Given the description of an element on the screen output the (x, y) to click on. 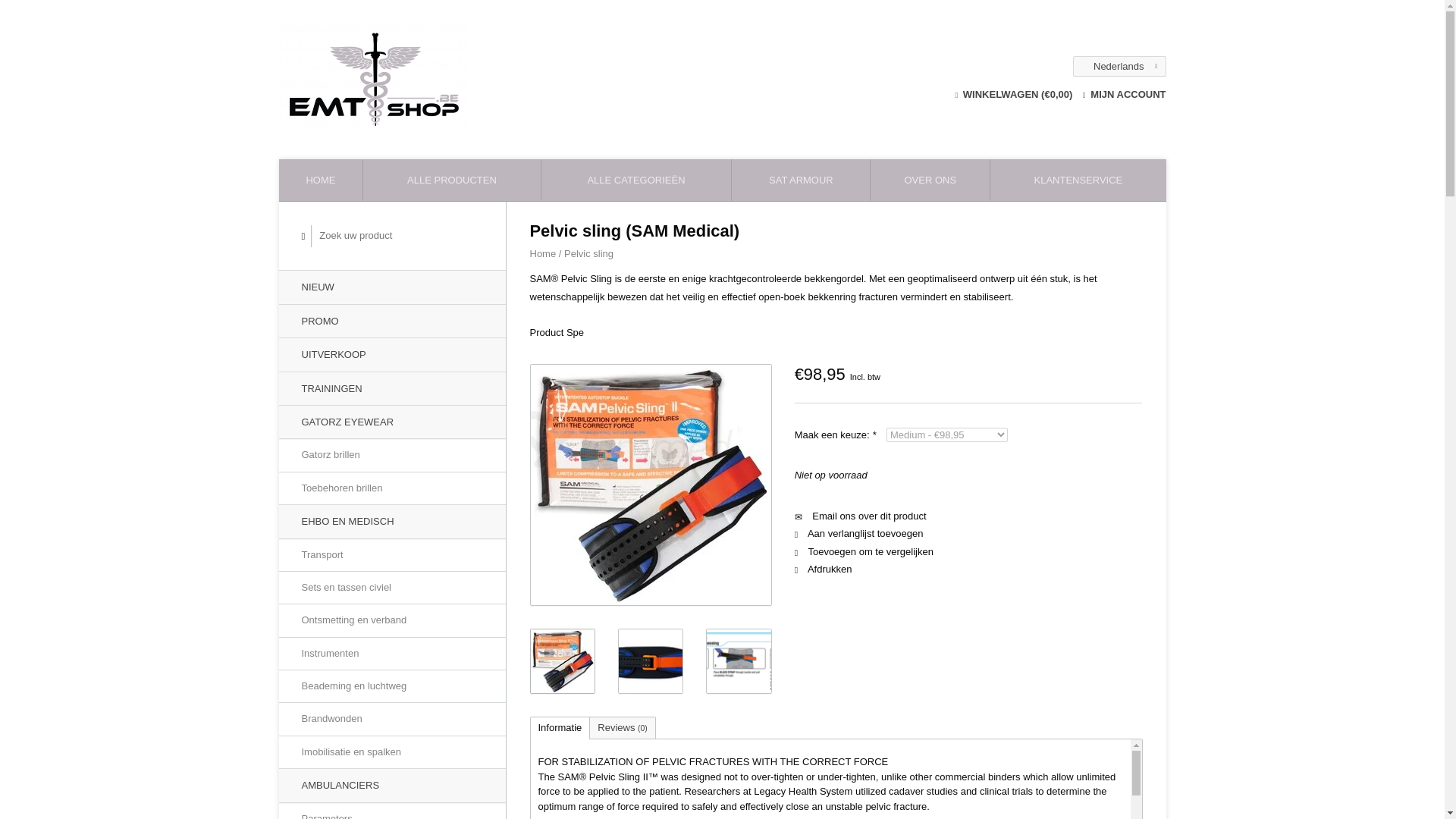
PROMO (392, 320)
Instrumenten (392, 653)
Gatorz brillen (392, 454)
SAT Armour (800, 179)
Toebehoren brillen (392, 488)
Sets en tassen civiel (392, 587)
Sets en tassen civiel (392, 587)
Toebehoren brillen (392, 488)
Gatorz brillen (392, 454)
Trainingen (392, 388)
